Given the description of an element on the screen output the (x, y) to click on. 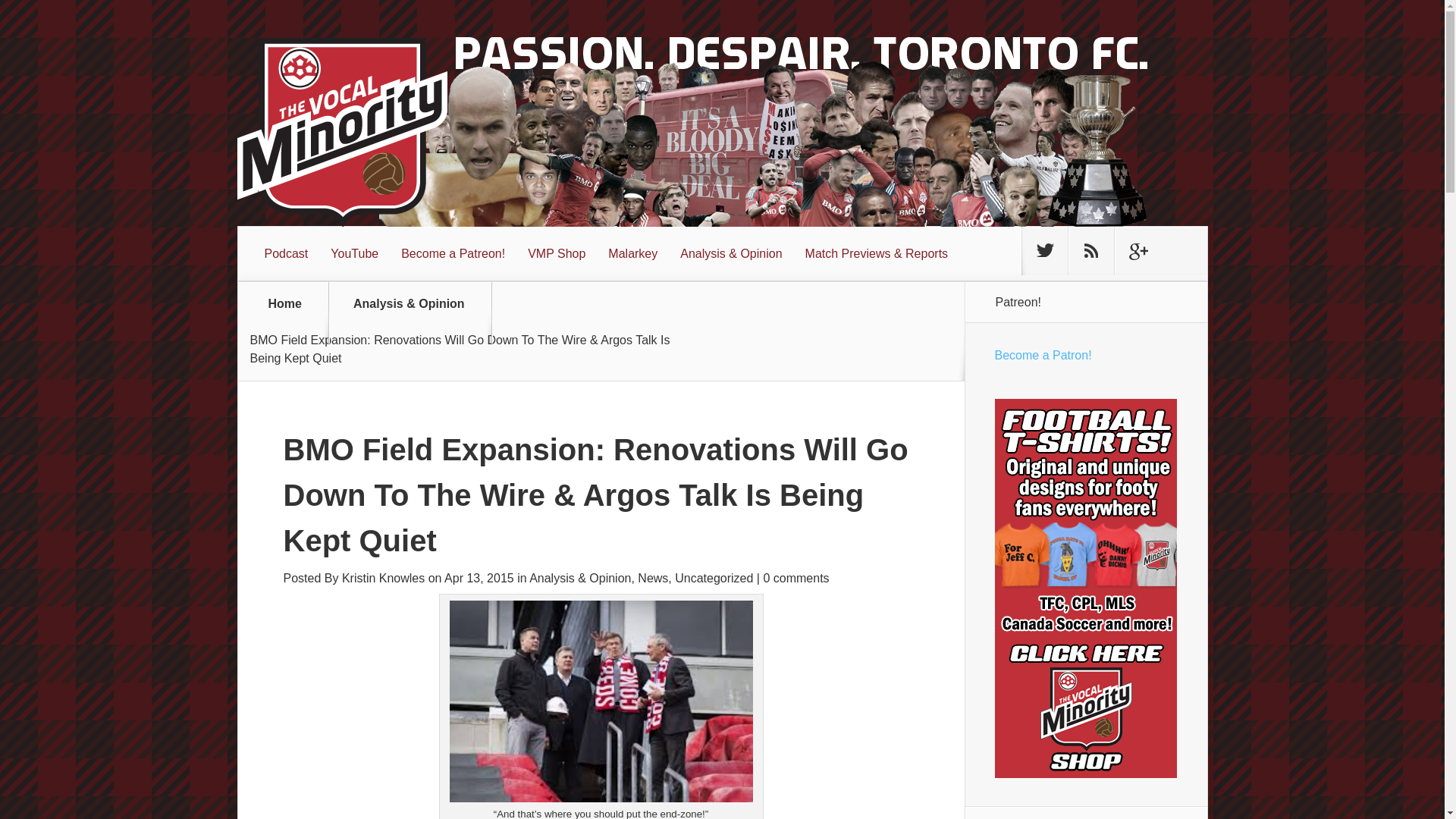
Posts by Kristin Knowles (383, 577)
Follow us on Twitter (1044, 250)
Home (285, 312)
Malarkey (632, 253)
Uncategorized (713, 577)
0 comments (795, 577)
Become a Patron! (1043, 354)
VMP Shop (556, 253)
Kristin Knowles (383, 577)
Subscribe To Rss Feed (1090, 250)
Become a Patreon! (453, 253)
Podcast (286, 253)
News (652, 577)
T-shirts and other less formal attire (556, 253)
YouTube (354, 253)
